Given the description of an element on the screen output the (x, y) to click on. 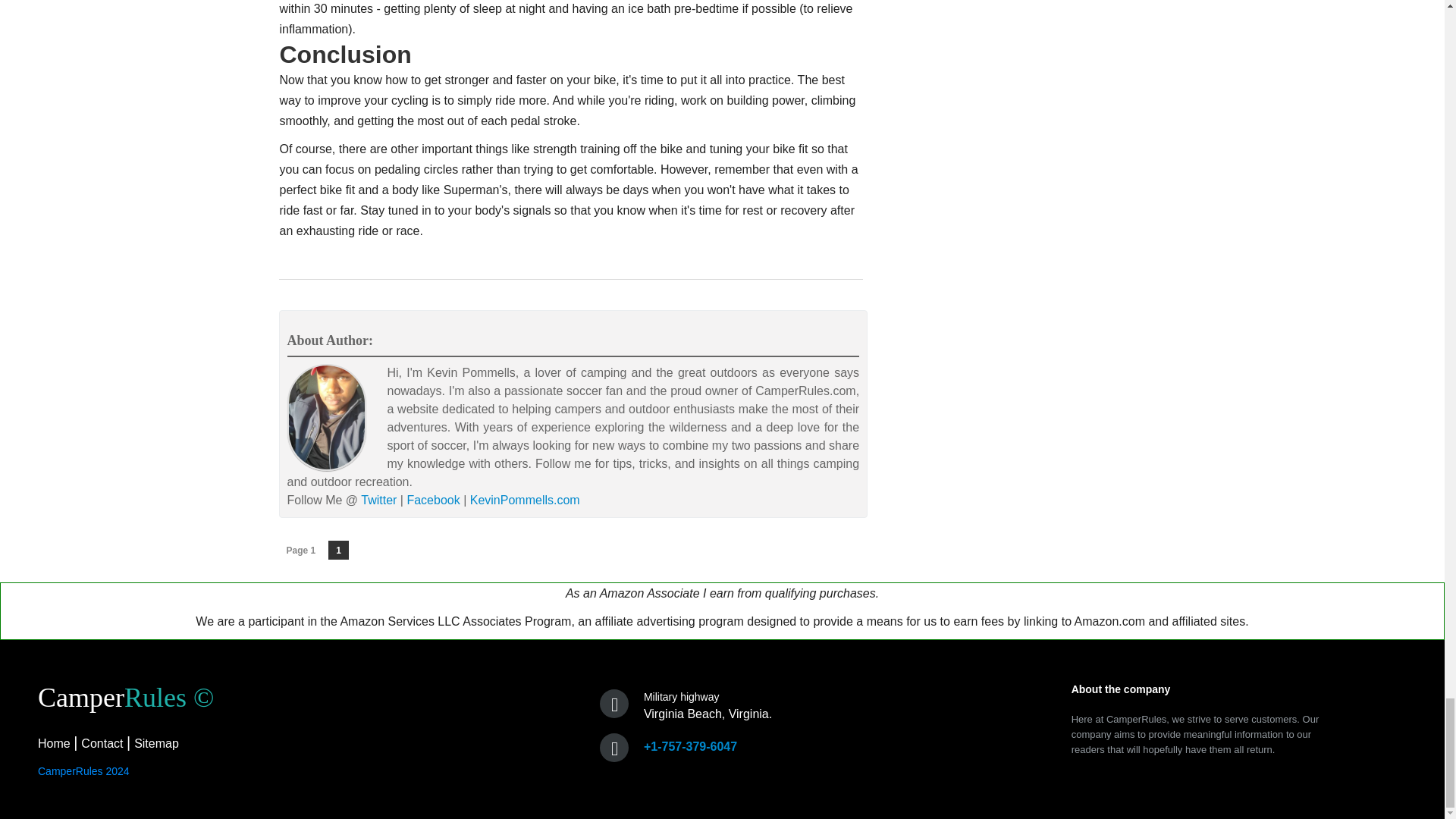
KevinPommells.com (524, 499)
Facebook (433, 499)
Twitter (378, 499)
